Given the description of an element on the screen output the (x, y) to click on. 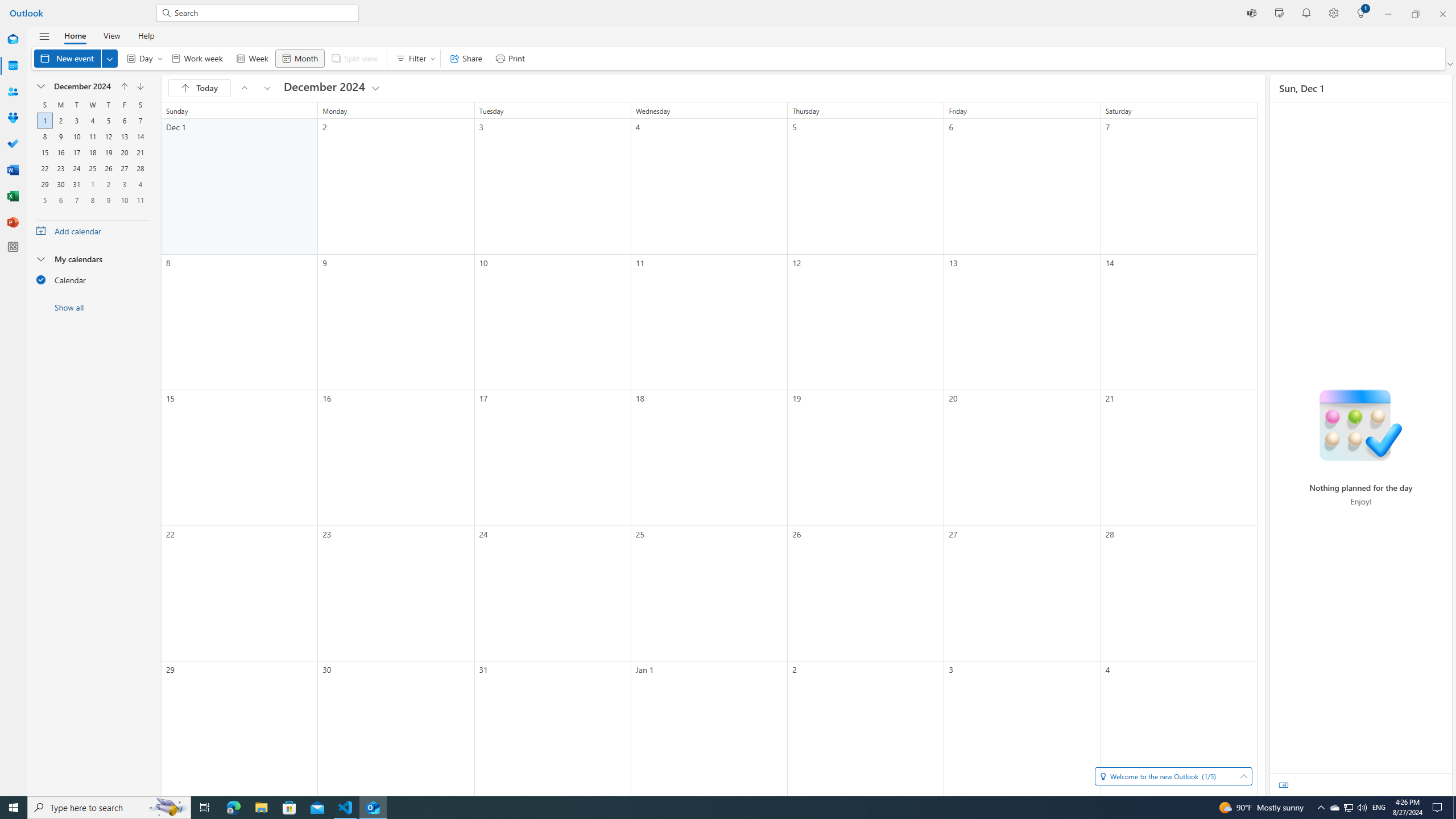
15, December, 2024 (44, 152)
Expand to see more New options (109, 58)
Start (13, 807)
22, December, 2024 (44, 168)
My calendarsCalendar (92, 272)
Mail (12, 39)
27, December, 2024 (124, 168)
30, December, 2024 (59, 183)
Excel (12, 196)
Go to previous month November 2024 (244, 88)
Print (510, 58)
7, January, 2025 (75, 200)
Microsoft Edge (233, 807)
Microsoft Store (289, 807)
